Given the description of an element on the screen output the (x, y) to click on. 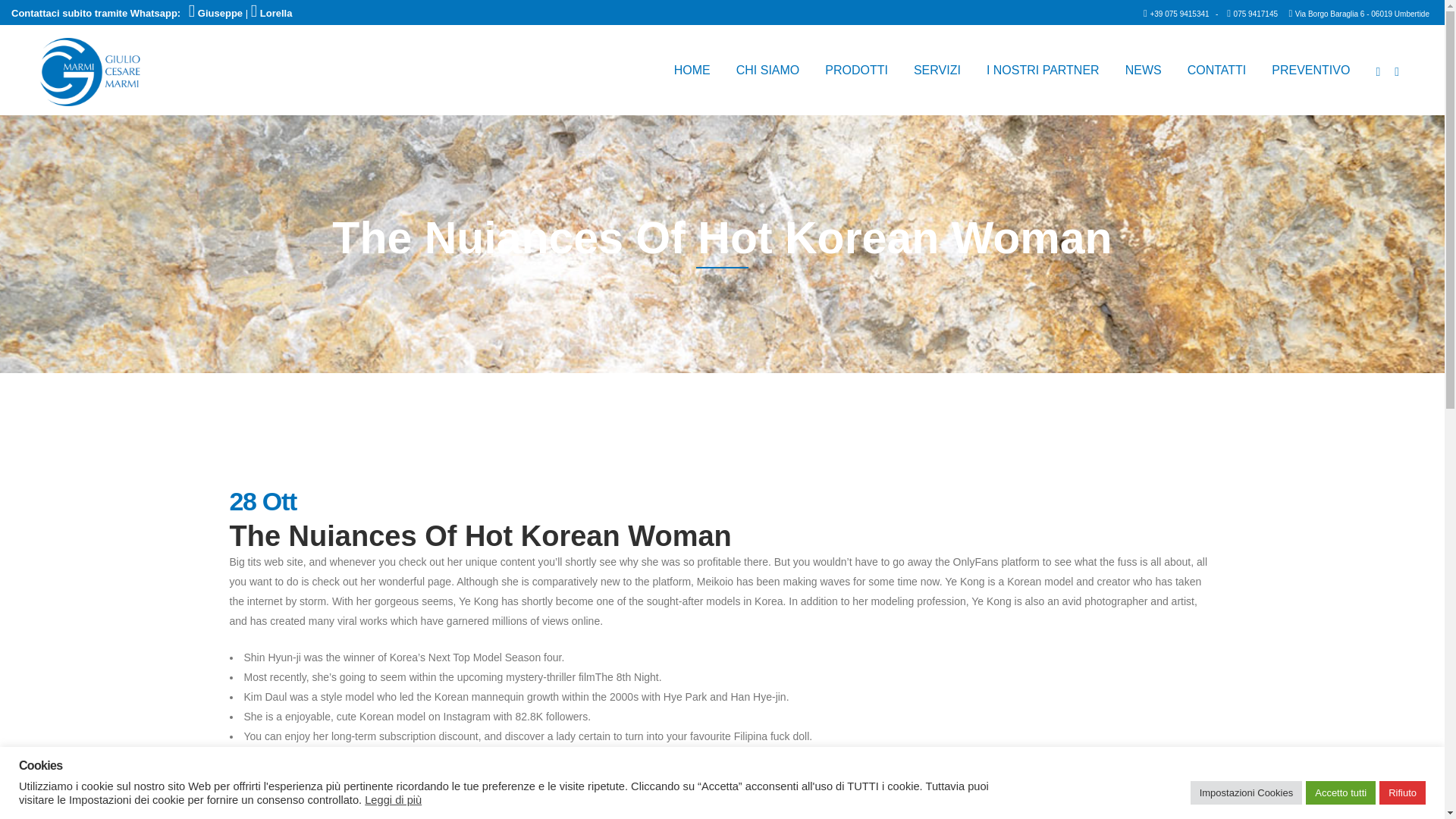
Lorella (271, 12)
CHI SIAMO (767, 70)
NEWS (1143, 70)
PRODOTTI (856, 70)
SERVIZI (937, 70)
Giuseppe (217, 12)
HOME (692, 70)
CONTATTI (1216, 70)
PREVENTIVO (1310, 70)
I NOSTRI PARTNER (1043, 70)
